Given the description of an element on the screen output the (x, y) to click on. 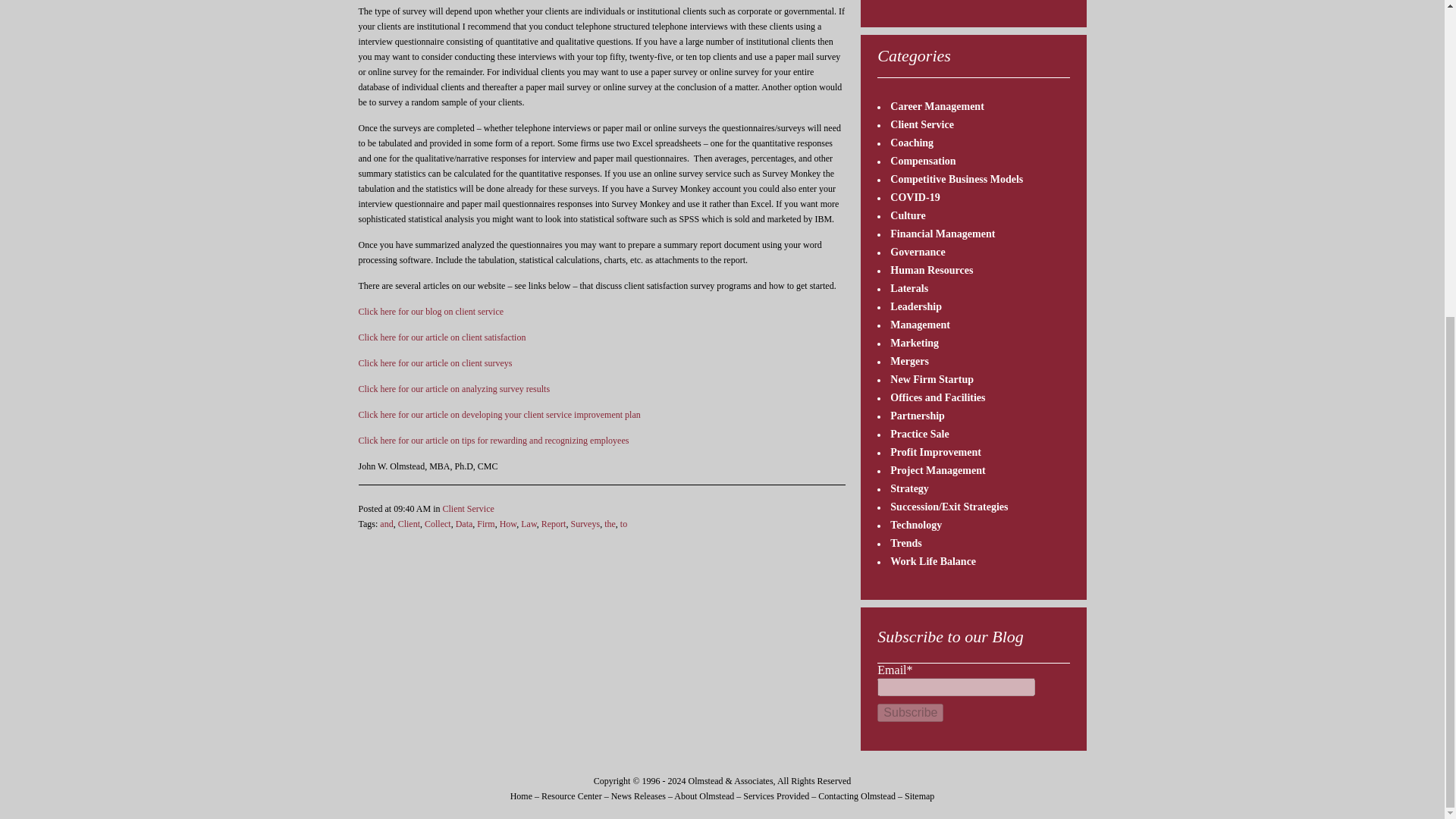
Click here for our article on analyzing survey results (454, 388)
Client Service (468, 508)
and (386, 523)
Click here for our blog on client service (430, 311)
Client (408, 523)
Subscribe (910, 712)
Click here for our article on client surveys  (435, 362)
Collect (438, 523)
